Given the description of an element on the screen output the (x, y) to click on. 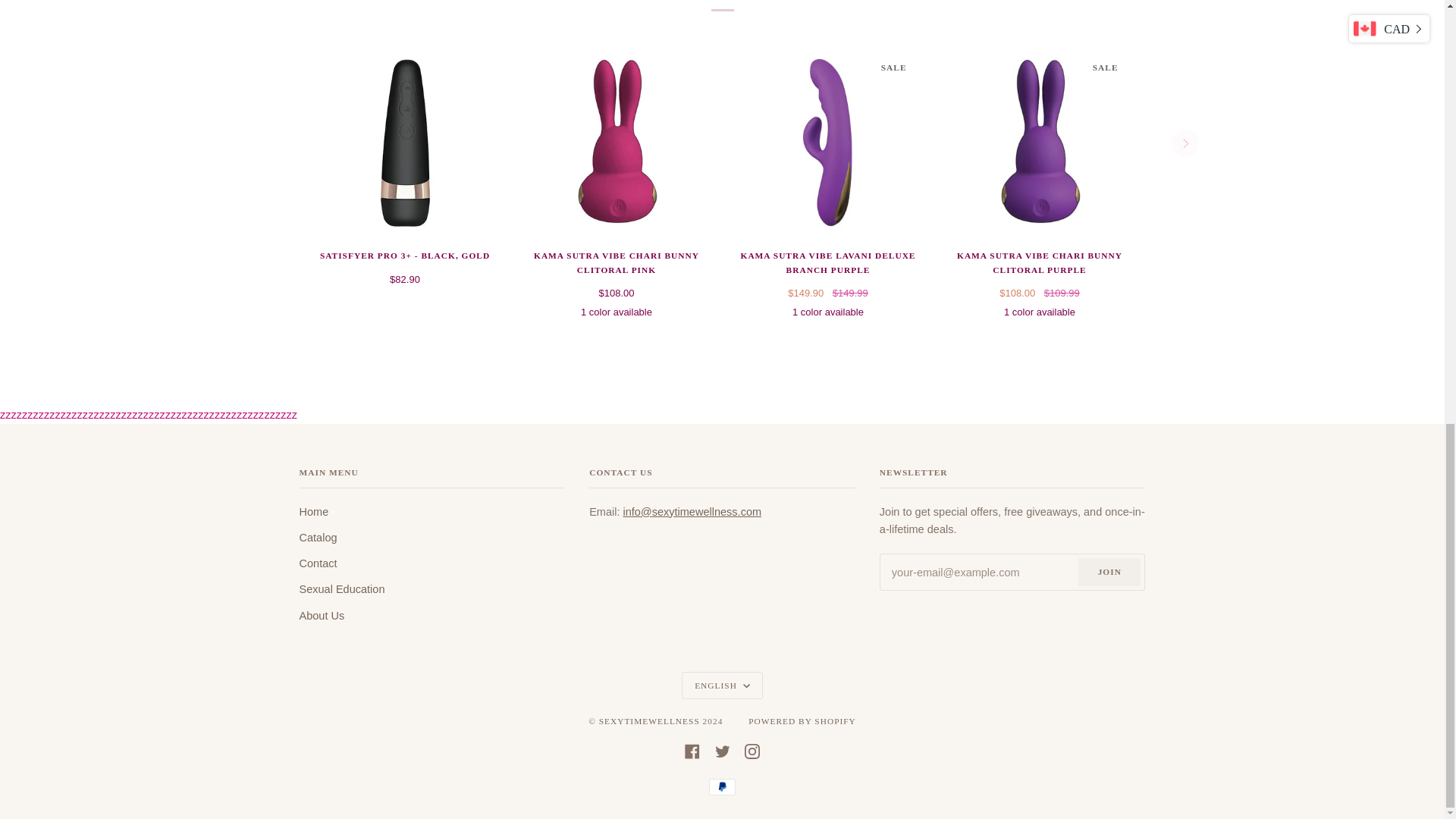
Facebook (692, 749)
Twitter (721, 749)
Instagram (752, 749)
PAYPAL (722, 786)
